Given the description of an element on the screen output the (x, y) to click on. 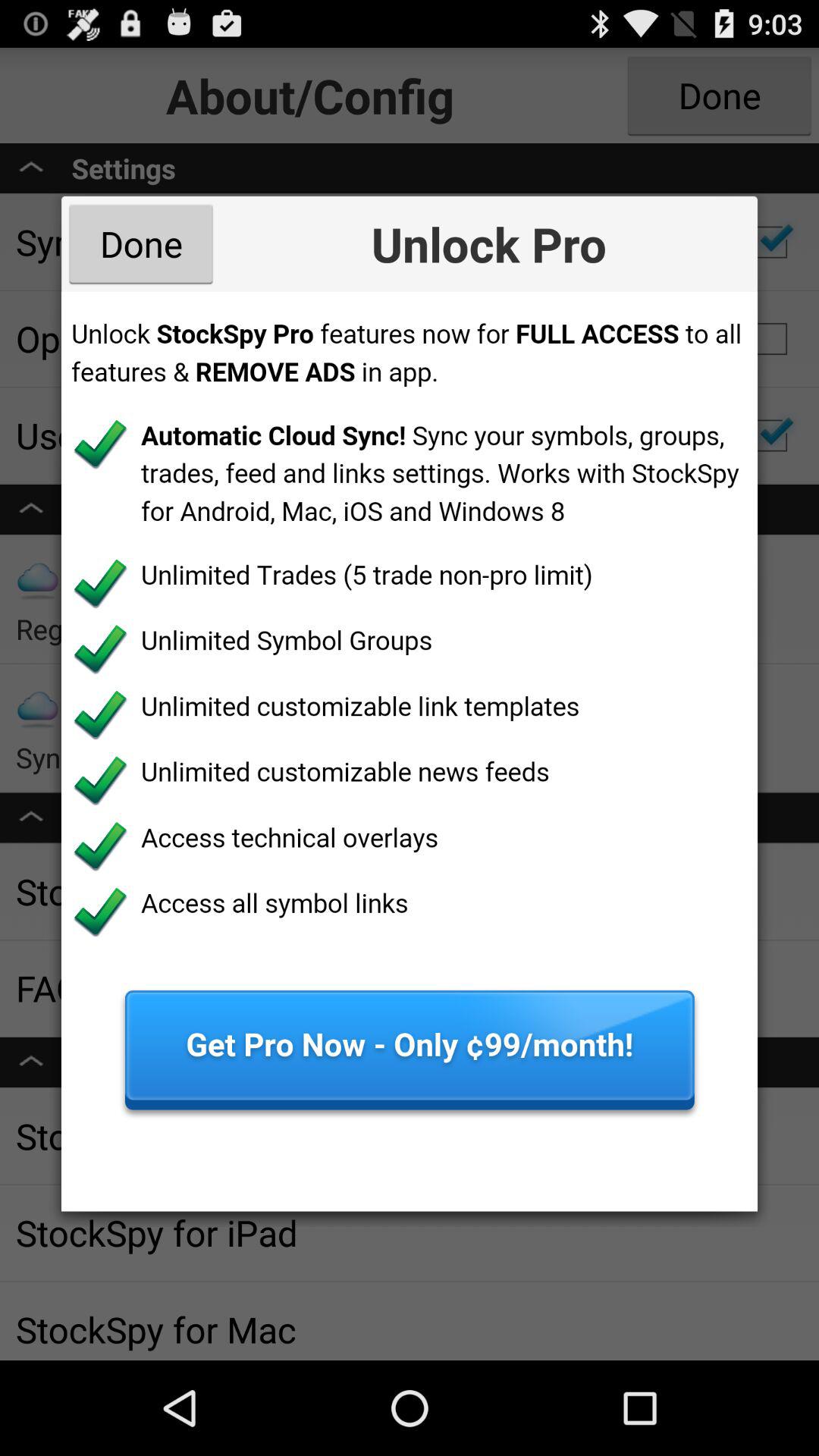
purchase pro plan (409, 751)
